Given the description of an element on the screen output the (x, y) to click on. 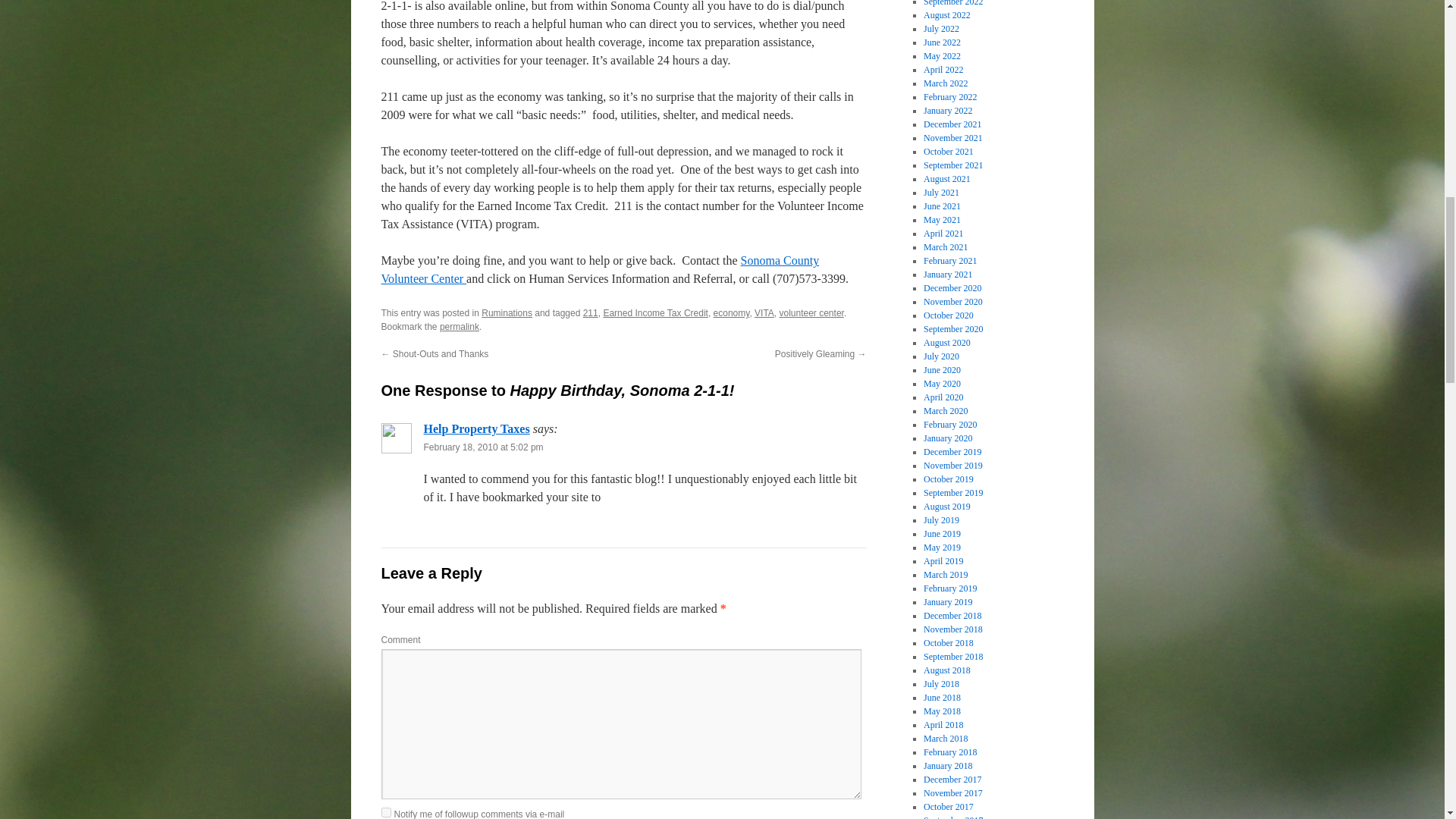
February 2022 (949, 96)
permalink (459, 326)
Permalink to Happy Birthday, Sonoma 2-1-1! (459, 326)
Sonoma County Volunteer Center (599, 269)
February 18, 2010 at 5:02 pm (483, 447)
economy (731, 312)
July 2022 (941, 28)
211 (590, 312)
Ruminations (506, 312)
Help Property Taxes (476, 428)
September 2022 (952, 3)
March 2022 (945, 82)
Earned Income Tax Credit (654, 312)
May 2022 (941, 55)
VITA (764, 312)
